Given the description of an element on the screen output the (x, y) to click on. 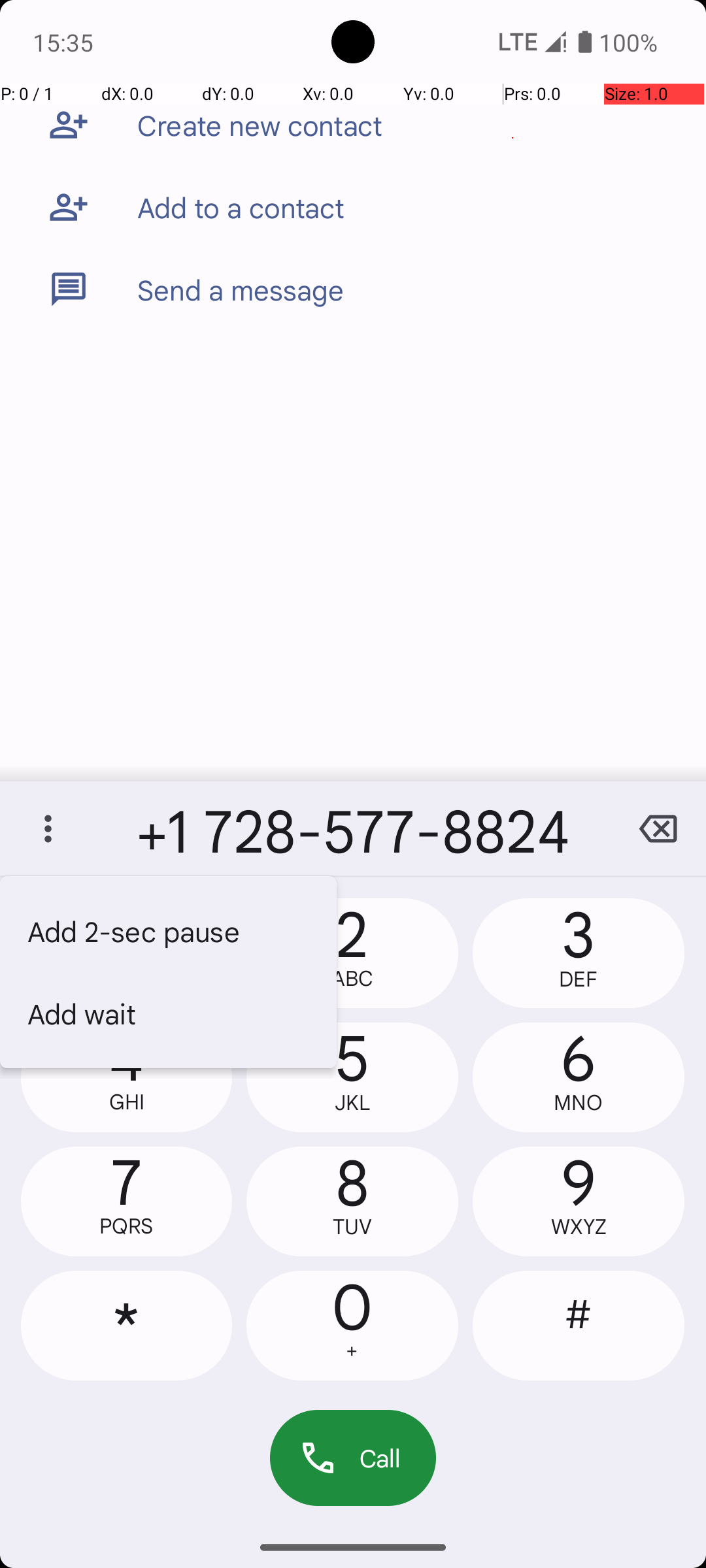
Add 2-sec pause Element type: android.widget.TextView (168, 930)
Add wait Element type: android.widget.TextView (168, 1012)
